Given the description of an element on the screen output the (x, y) to click on. 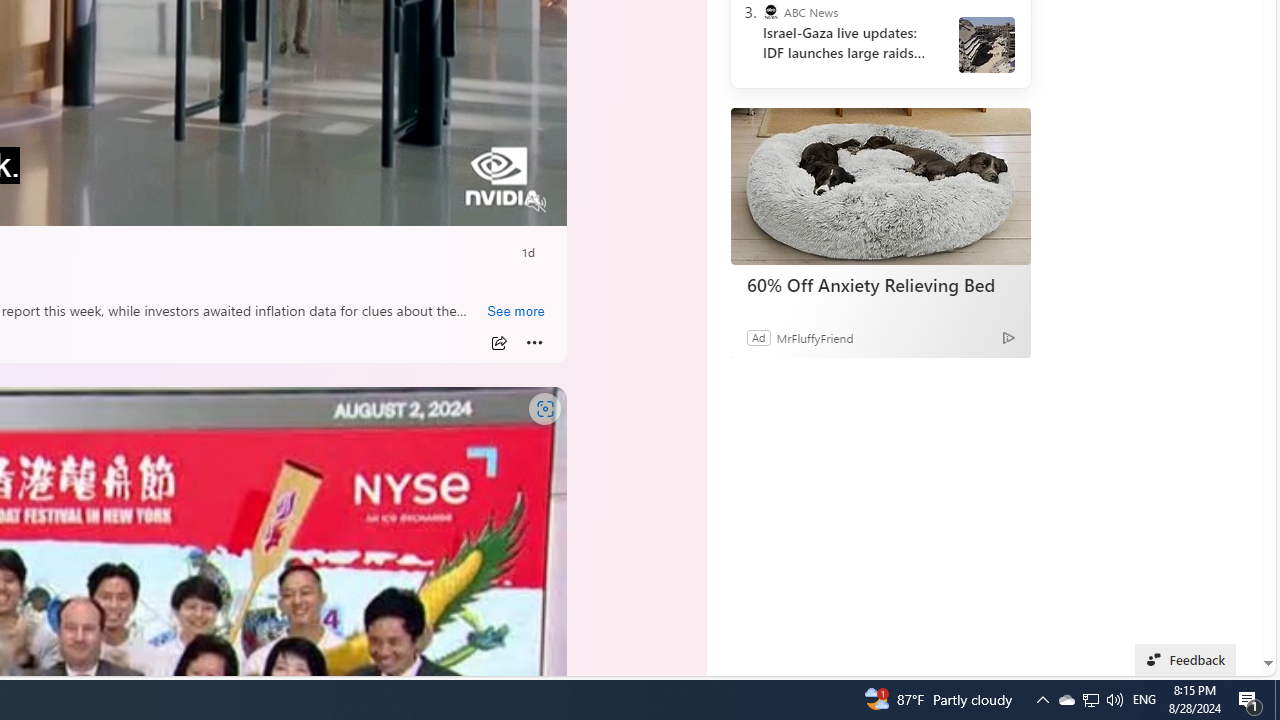
Share (498, 343)
Quality Settings (418, 203)
